Given the description of an element on the screen output the (x, y) to click on. 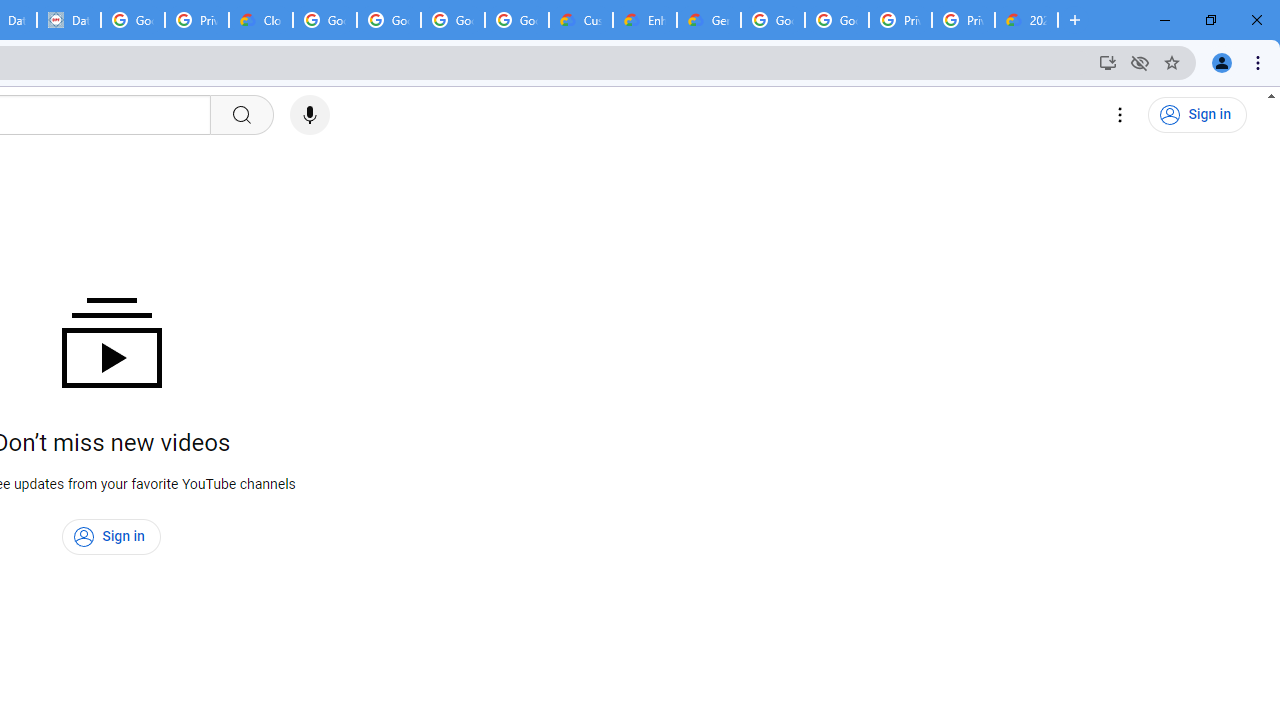
Install YouTube (1107, 62)
Data Privacy Framework (69, 20)
Search with your voice (309, 115)
Cloud Data Processing Addendum | Google Cloud (261, 20)
